Given the description of an element on the screen output the (x, y) to click on. 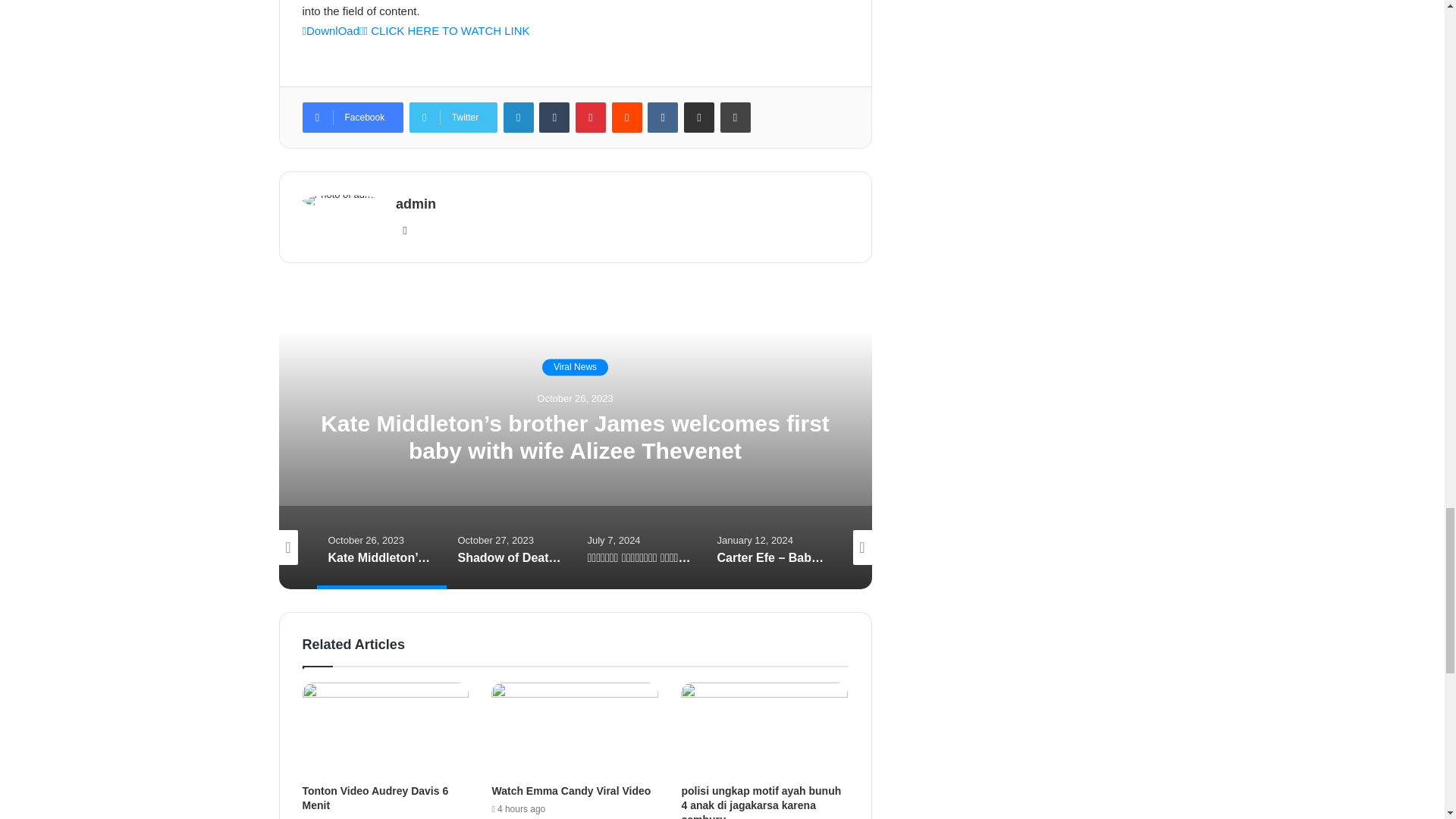
Tumblr (553, 117)
Share via Email (699, 117)
LinkedIn (518, 117)
Print (735, 117)
Facebook (352, 117)
Twitter (453, 117)
VKontakte (662, 117)
Tumblr (553, 117)
Facebook (352, 117)
Pinterest (590, 117)
